Given the description of an element on the screen output the (x, y) to click on. 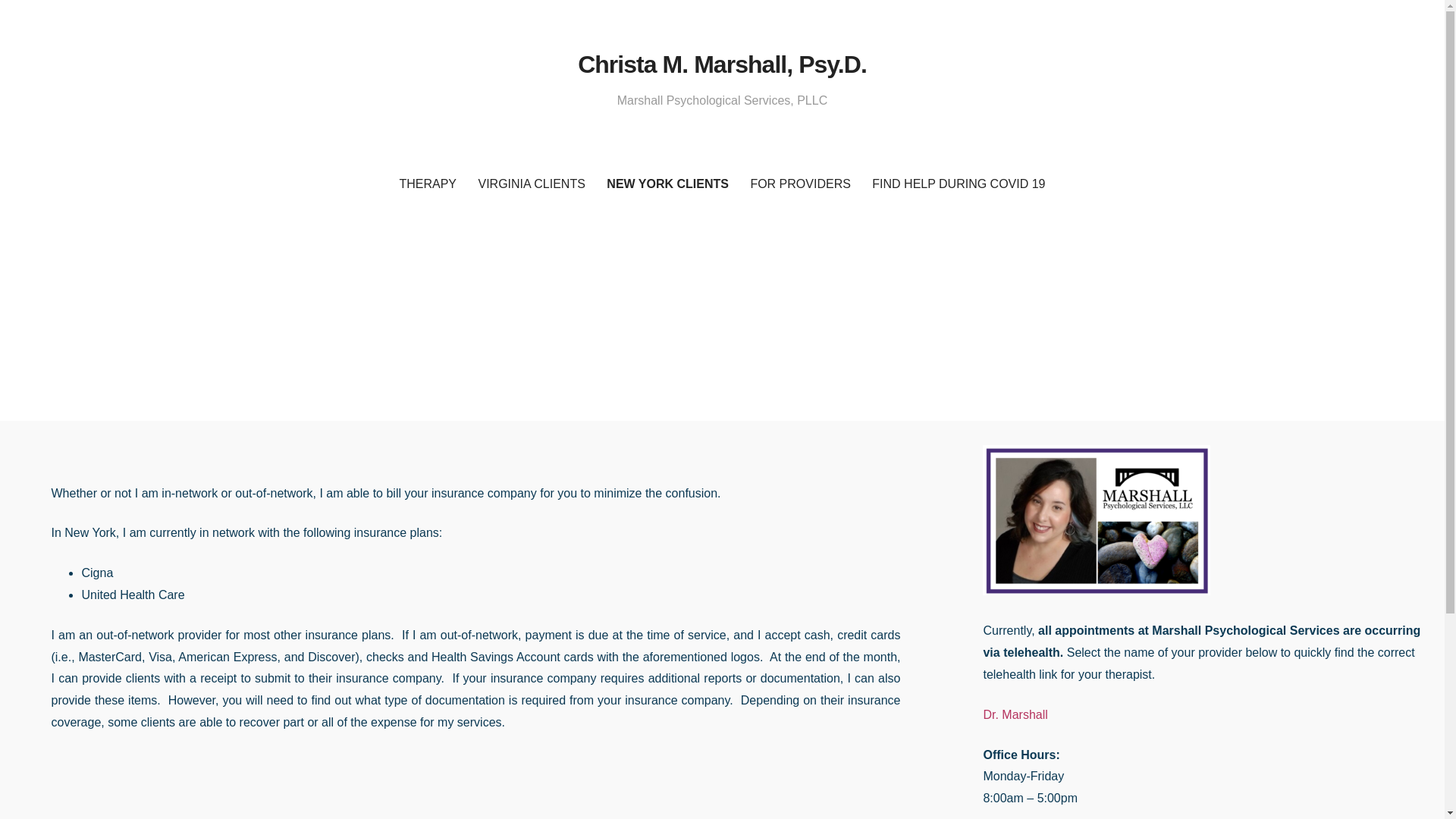
FOR PROVIDERS (800, 184)
VIRGINIA CLIENTS (531, 184)
NEW YORK CLIENTS (667, 184)
Dr. Marshall (1014, 714)
Christa M. Marshall, Psy.D. (722, 63)
FIND HELP DURING COVID 19 (958, 184)
THERAPY (427, 184)
